Given the description of an element on the screen output the (x, y) to click on. 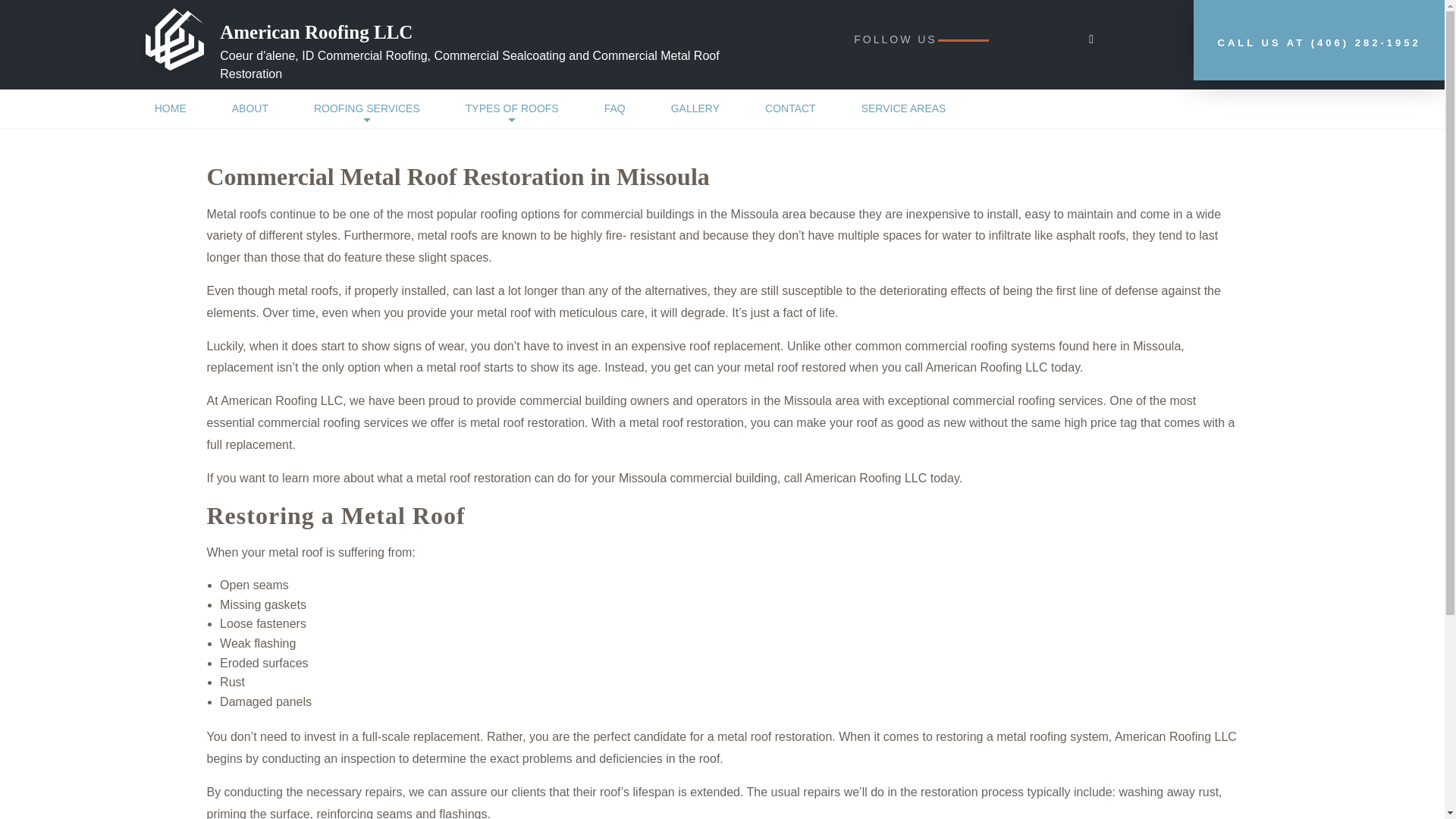
American Roofing LLC (501, 32)
ABOUT (250, 107)
See on Google Maps (1090, 38)
ROOFING SERVICES (366, 107)
SERVICE AREAS (903, 107)
CONTACT (790, 107)
American Roofing LLC Logo (173, 39)
FAQ (613, 107)
HOME (170, 107)
GALLERY (694, 107)
TYPES OF ROOFS (511, 107)
